Given the description of an element on the screen output the (x, y) to click on. 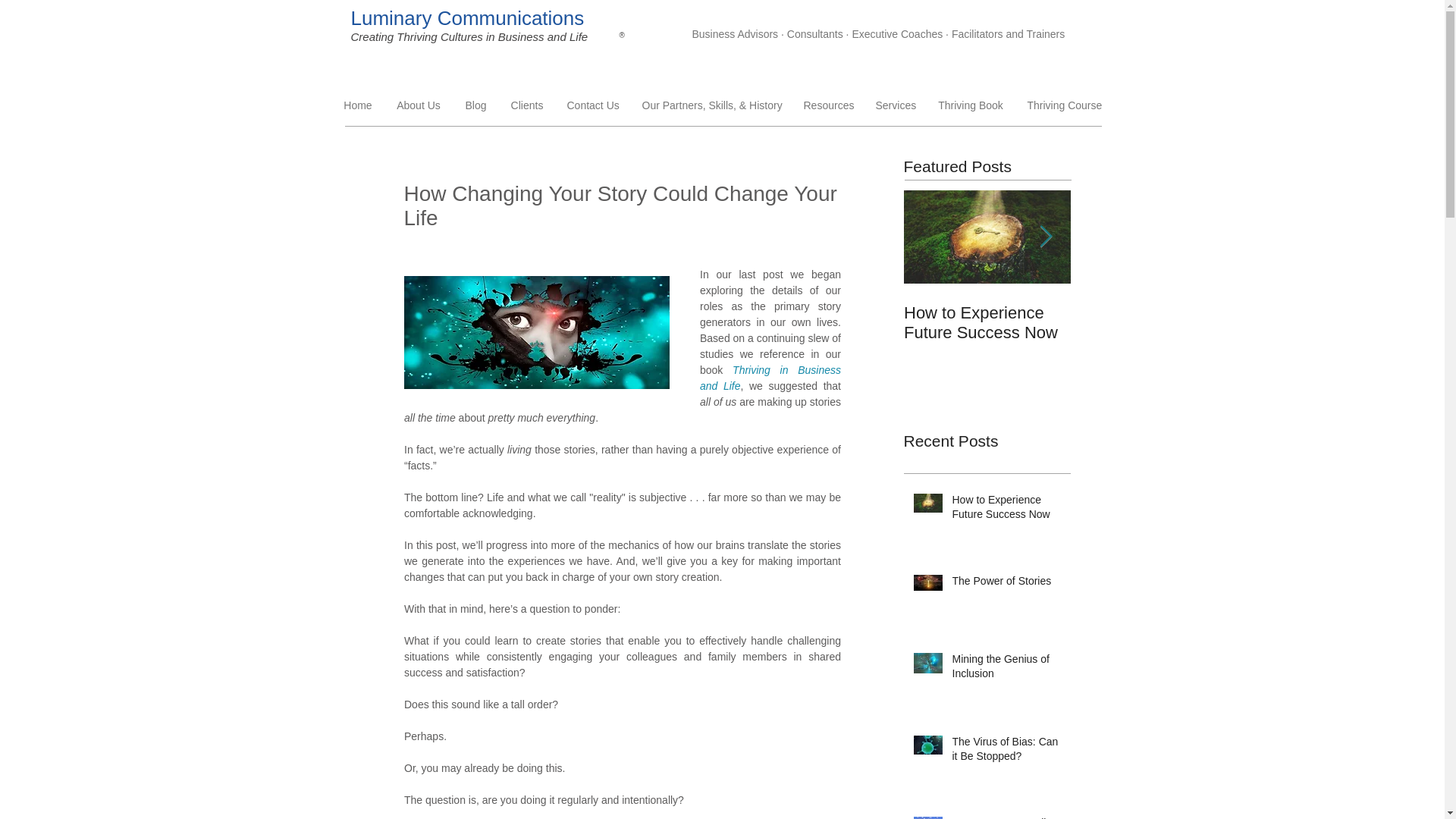
The Power of Stories (1006, 584)
Home (357, 105)
A Better Way to Sell (1006, 817)
Luminary Communications (466, 18)
Mining the Genius of Inclusion (1006, 669)
The Virus of Bias: Can it Be Stopped? (1006, 752)
Blog (474, 105)
Thriving Course (1063, 105)
Thriving in Business and Life (770, 377)
How to Experience Future Success Now (1006, 510)
